Given the description of an element on the screen output the (x, y) to click on. 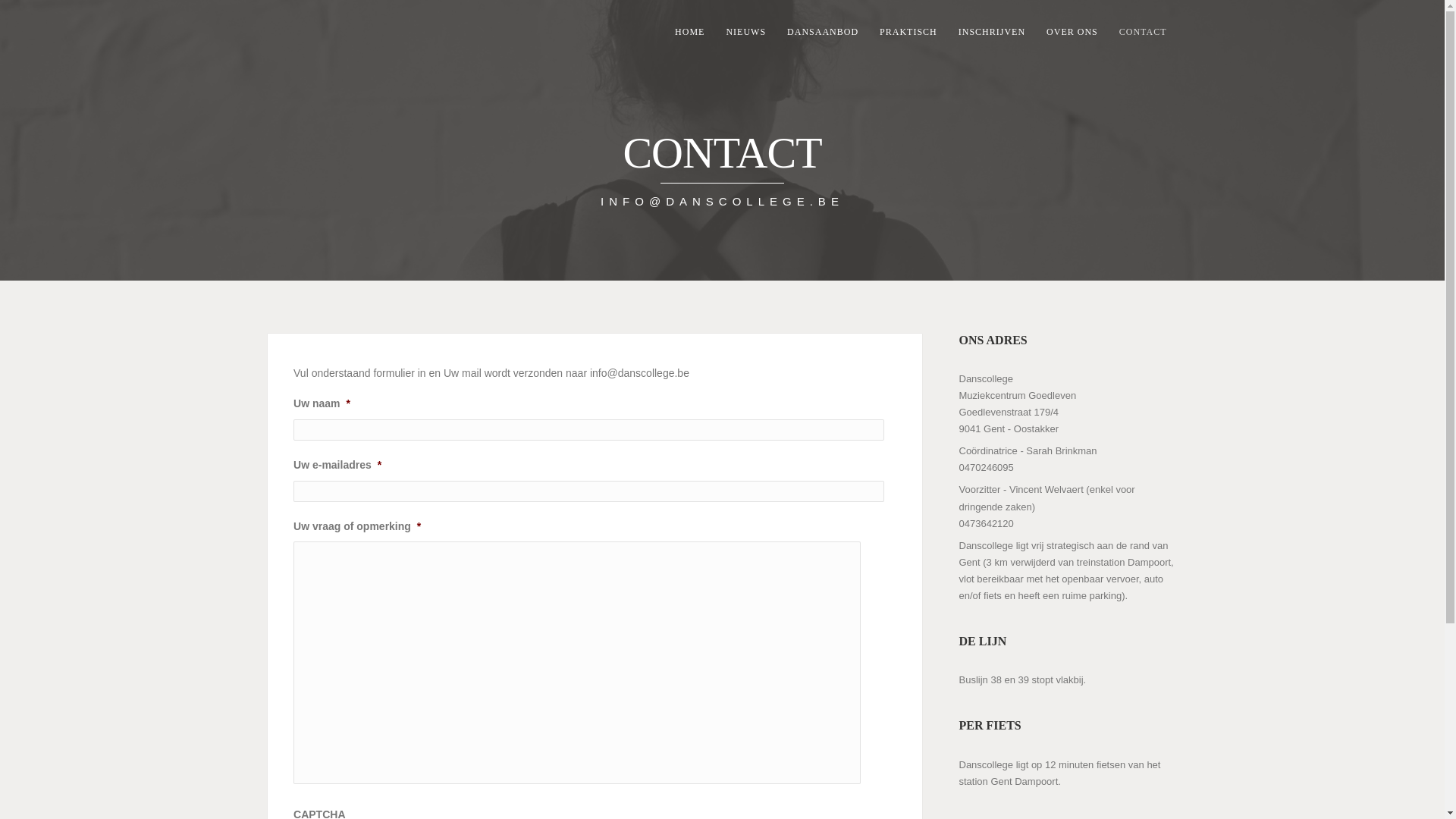
HOME Element type: text (689, 31)
CONTACT Element type: text (1142, 31)
PRAKTISCH Element type: text (908, 31)
DANSAANBOD Element type: text (822, 31)
OVER ONS Element type: text (1071, 31)
INSCHRIJVEN Element type: text (991, 31)
NIEUWS Element type: text (745, 31)
